Given the description of an element on the screen output the (x, y) to click on. 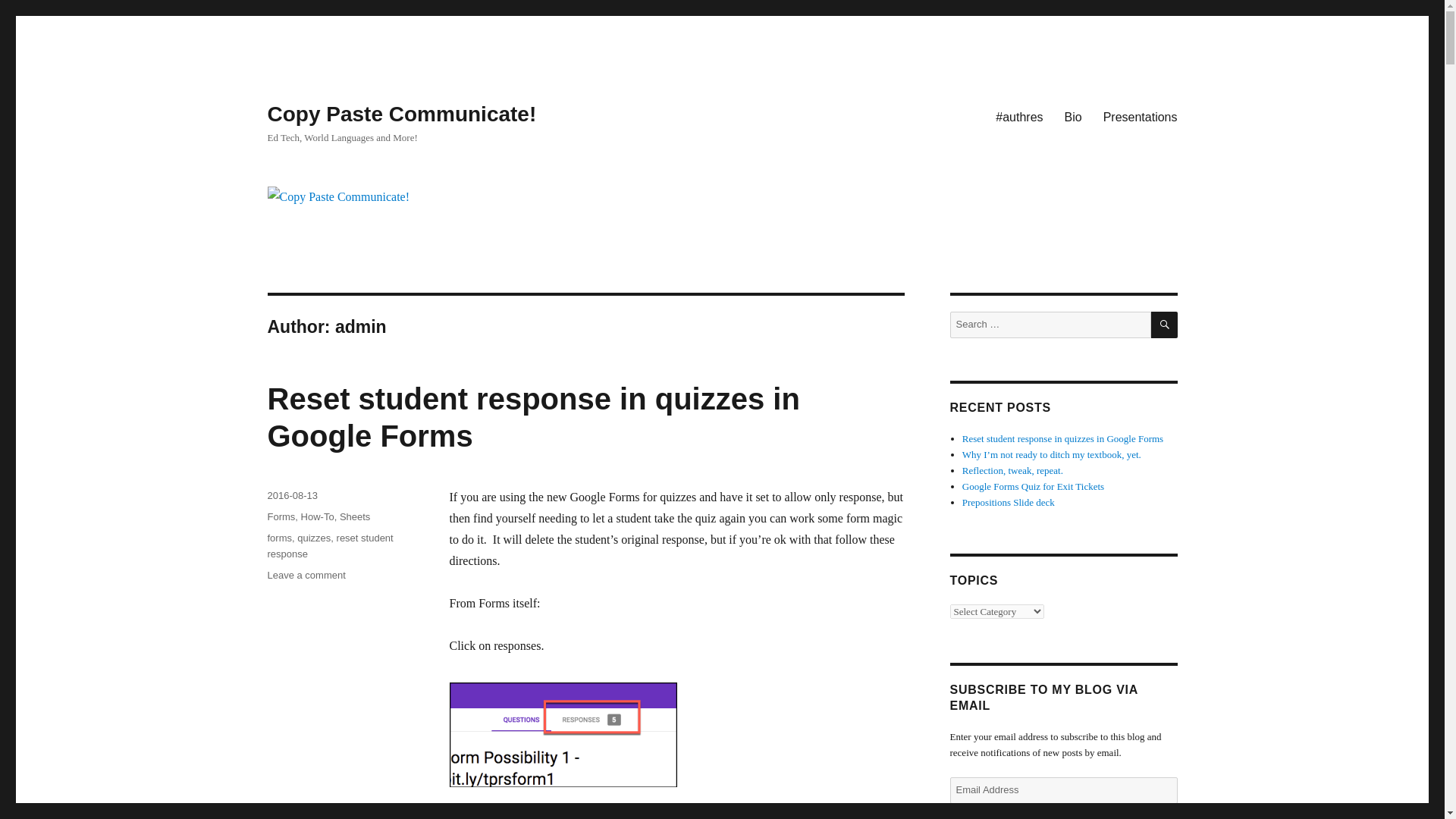
reset student response (329, 545)
Copy Paste Communicate! (400, 114)
Bio (1073, 116)
quizzes (313, 537)
Reset student response in quizzes in Google Forms (532, 417)
Forms (280, 516)
Presentations (1140, 116)
forms (279, 537)
How-To (317, 516)
Sheets (354, 516)
2016-08-13 (291, 495)
